Given the description of an element on the screen output the (x, y) to click on. 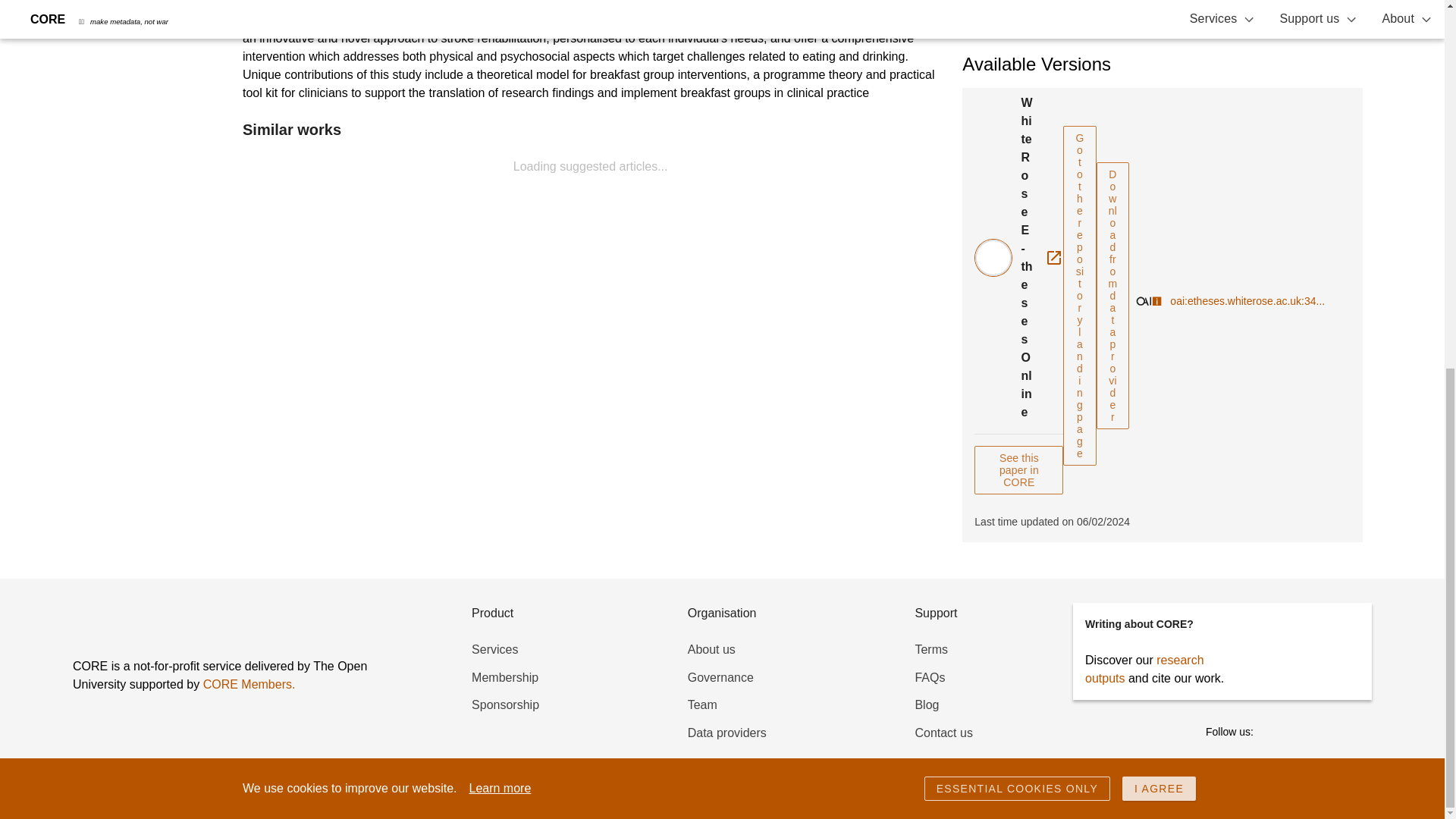
oai:etheses.whiterose.ac.uk:34... (1247, 301)
DOWNLOAD PDF (1162, 7)
See this paper in CORE (1018, 469)
